Given the description of an element on the screen output the (x, y) to click on. 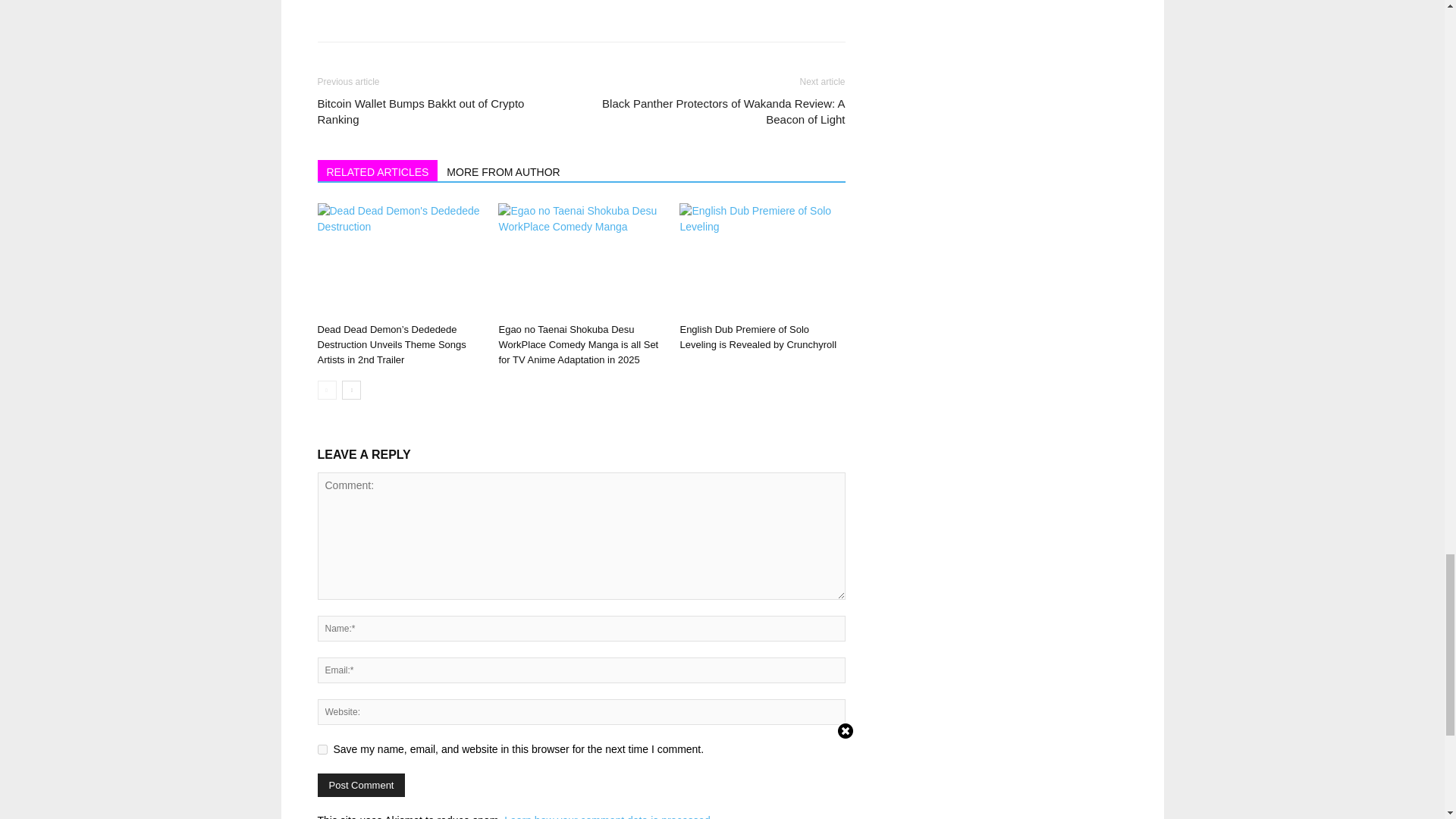
yes (321, 749)
MORE FROM AUTHOR (503, 169)
RELATED ARTICLES (377, 169)
Post Comment (360, 784)
Bitcoin Wallet Bumps Bakkt out of Crypto Ranking (439, 111)
